Given the description of an element on the screen output the (x, y) to click on. 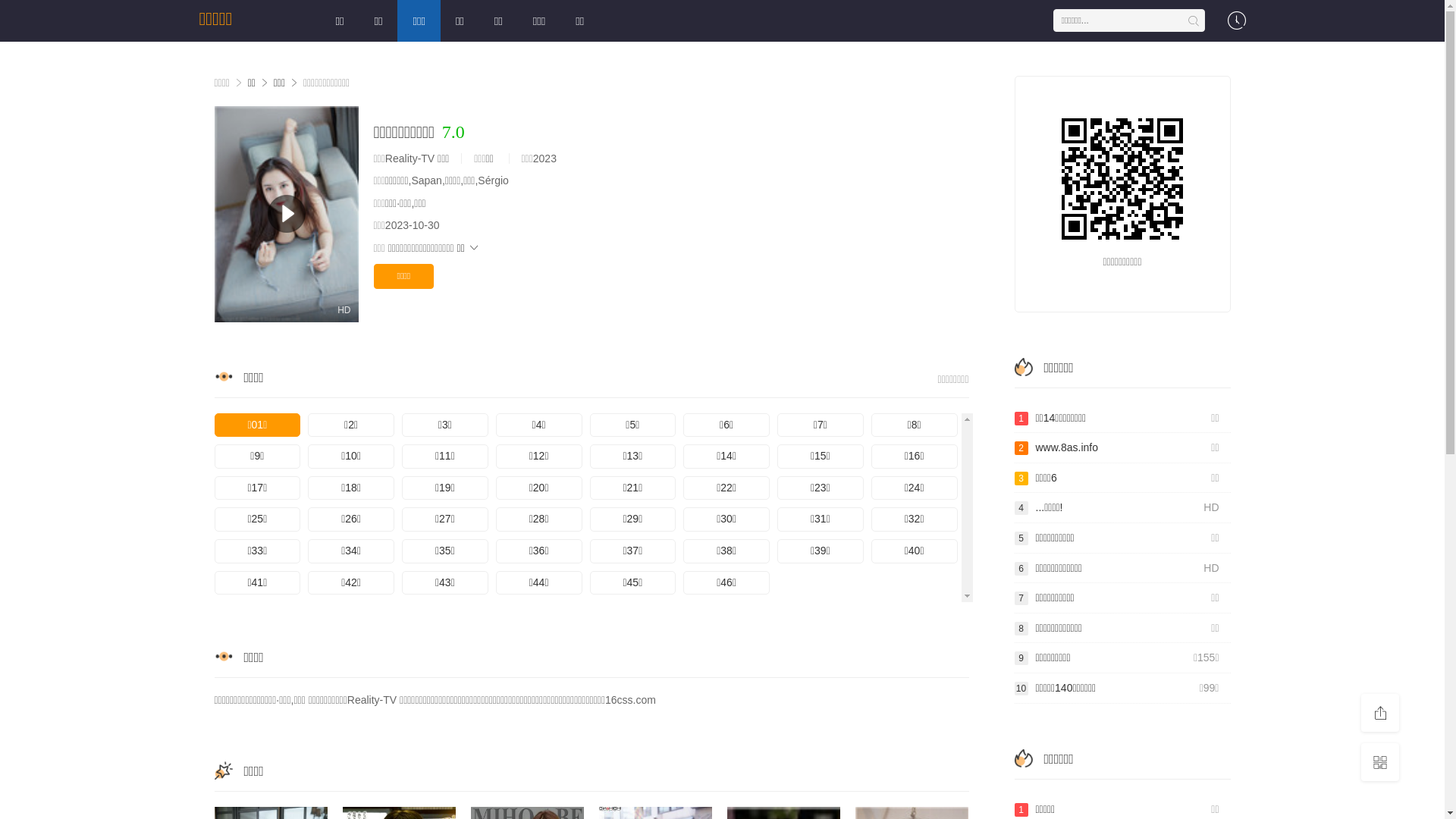
HD Element type: text (285, 214)
https://16css.com/js.html Element type: hover (1121, 178)
